Given the description of an element on the screen output the (x, y) to click on. 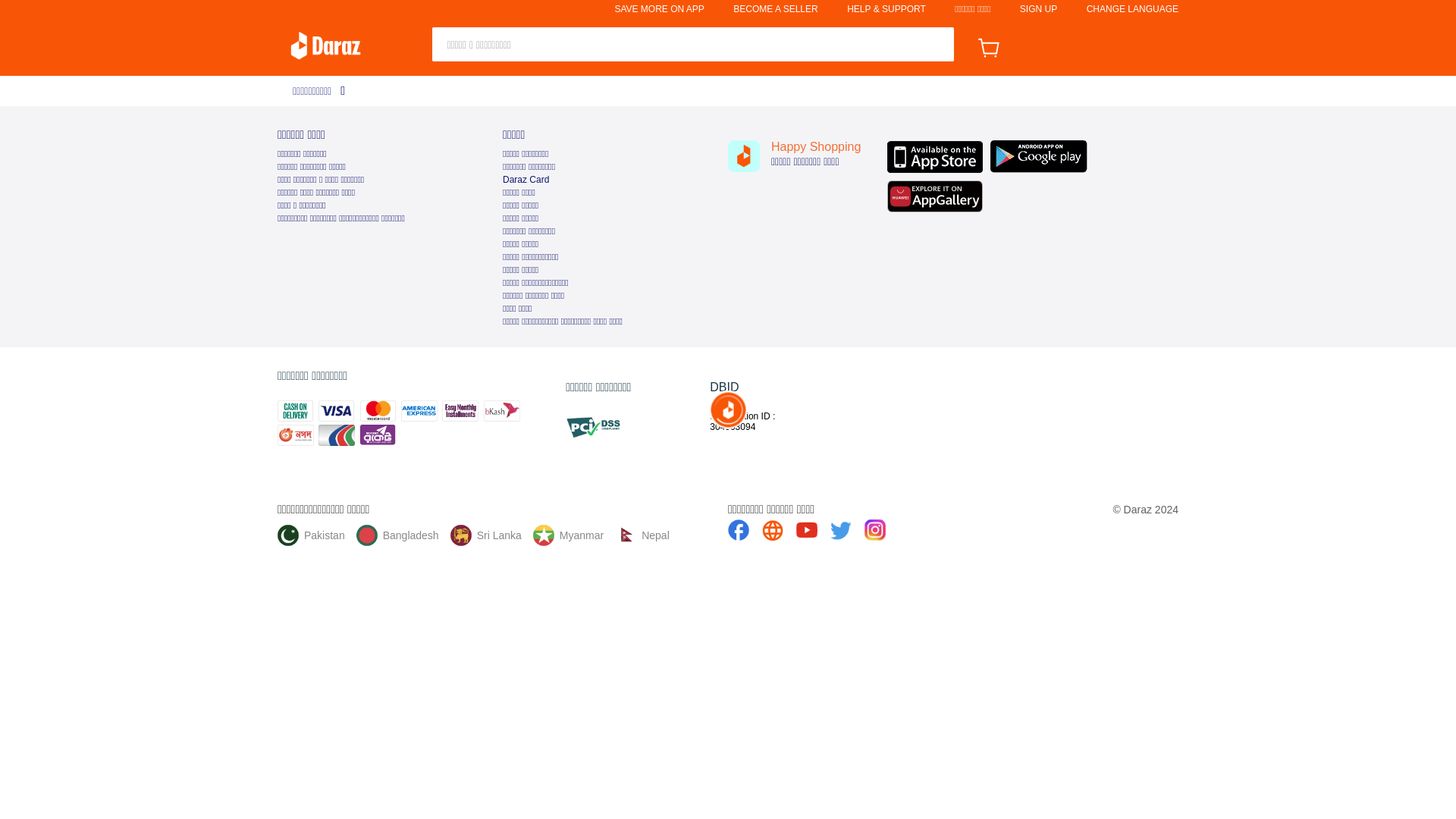
SIGN UP (1038, 9)
BECOME A SELLER (774, 9)
Daraz Card (525, 179)
